Given the description of an element on the screen output the (x, y) to click on. 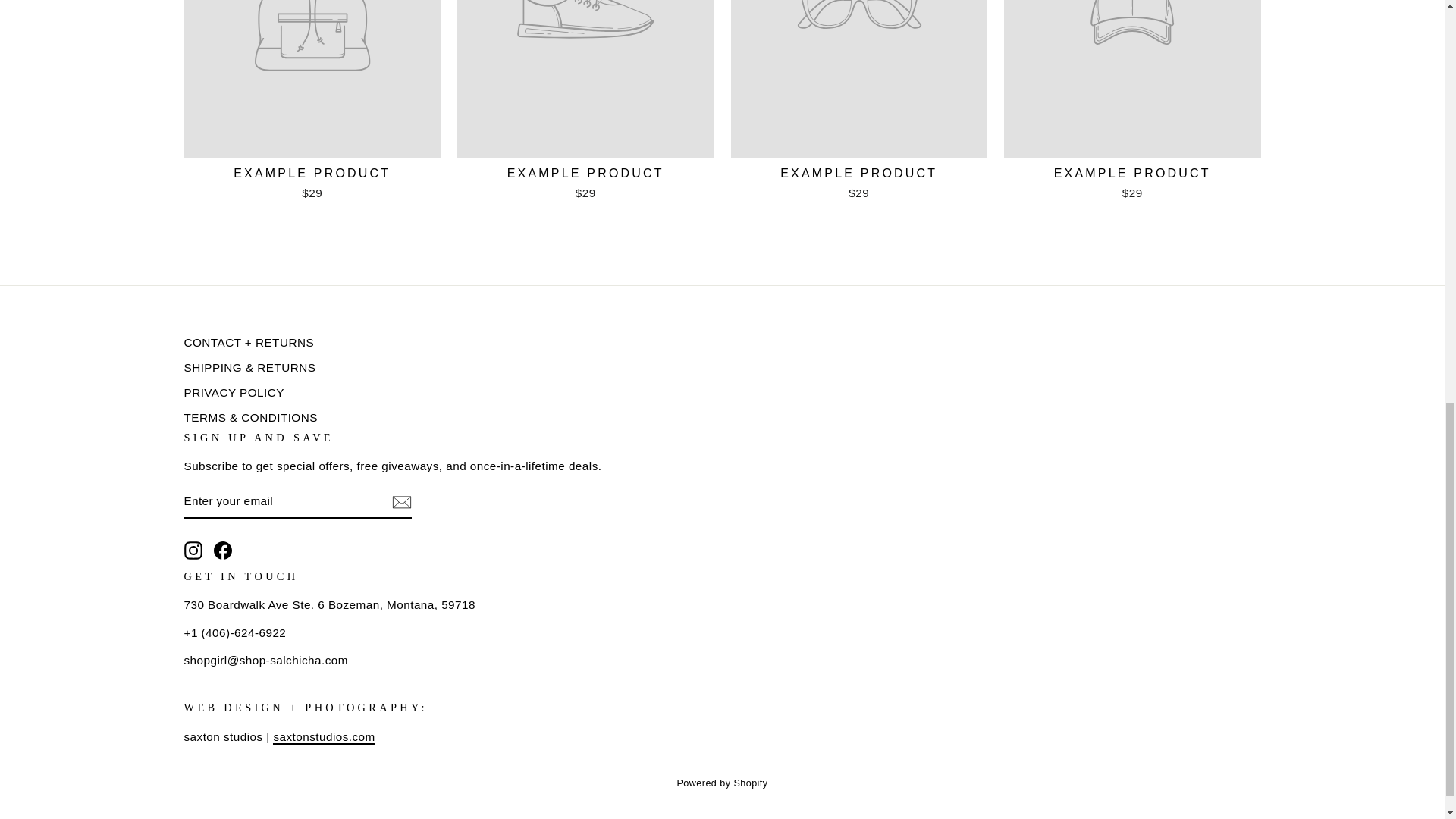
Salchicha on Instagram (192, 550)
instagram (192, 550)
icon-email (400, 502)
Salchicha on Facebook (222, 550)
